Given the description of an element on the screen output the (x, y) to click on. 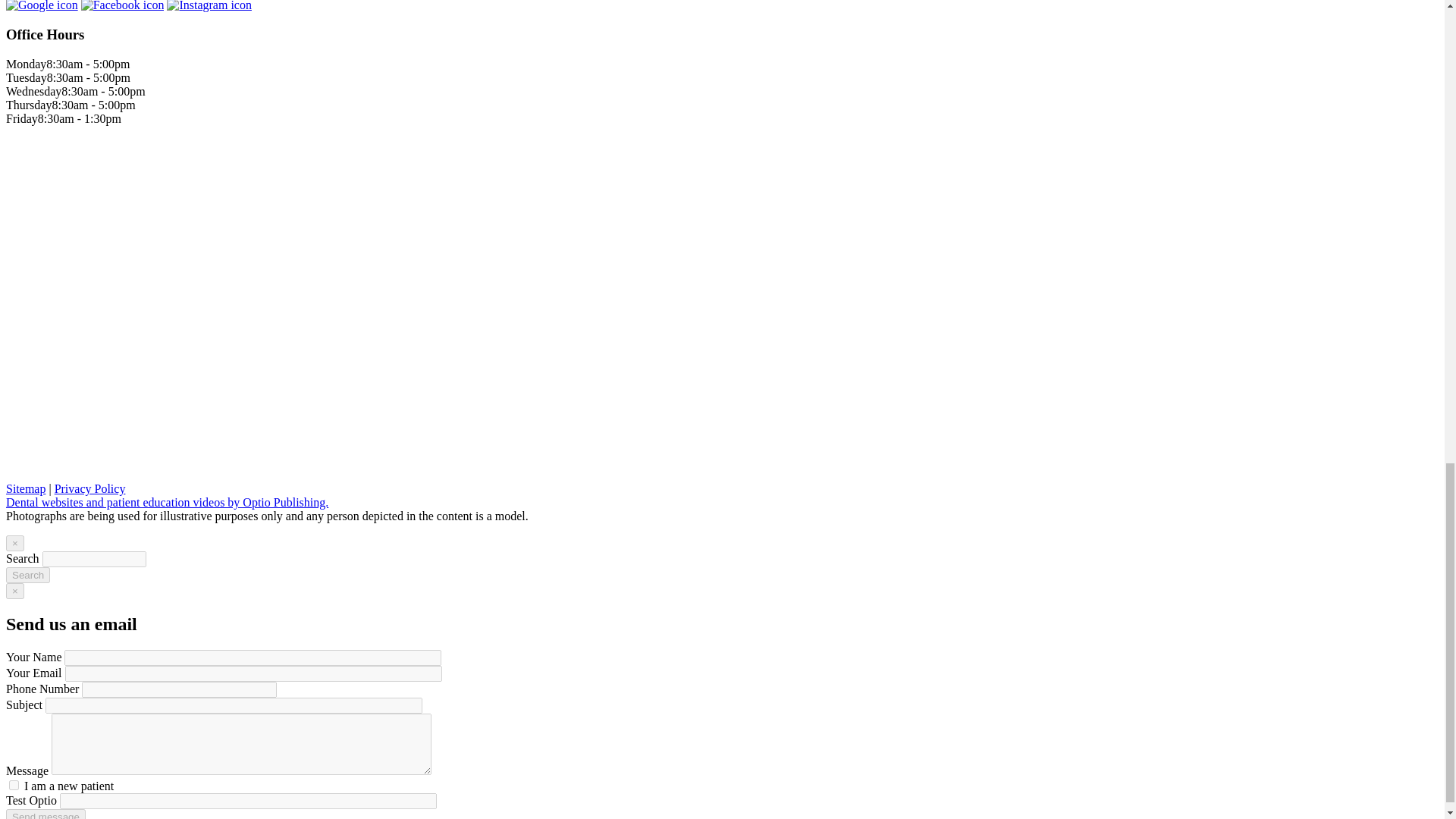
Search (27, 575)
1 (13, 785)
Enter the terms you wish to search for. (94, 559)
